Given the description of an element on the screen output the (x, y) to click on. 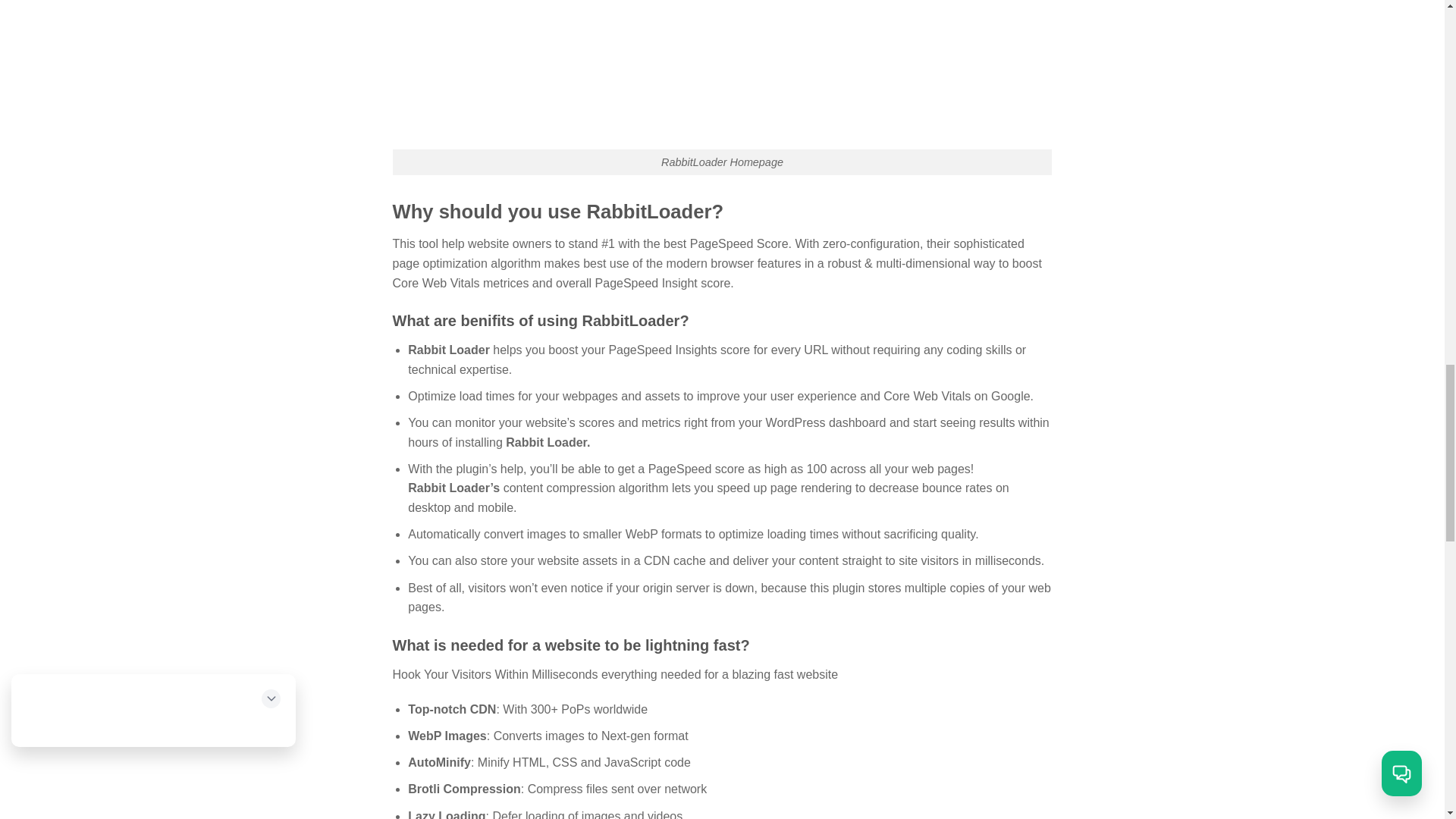
BetterLinks (722, 74)
